Given the description of an element on the screen output the (x, y) to click on. 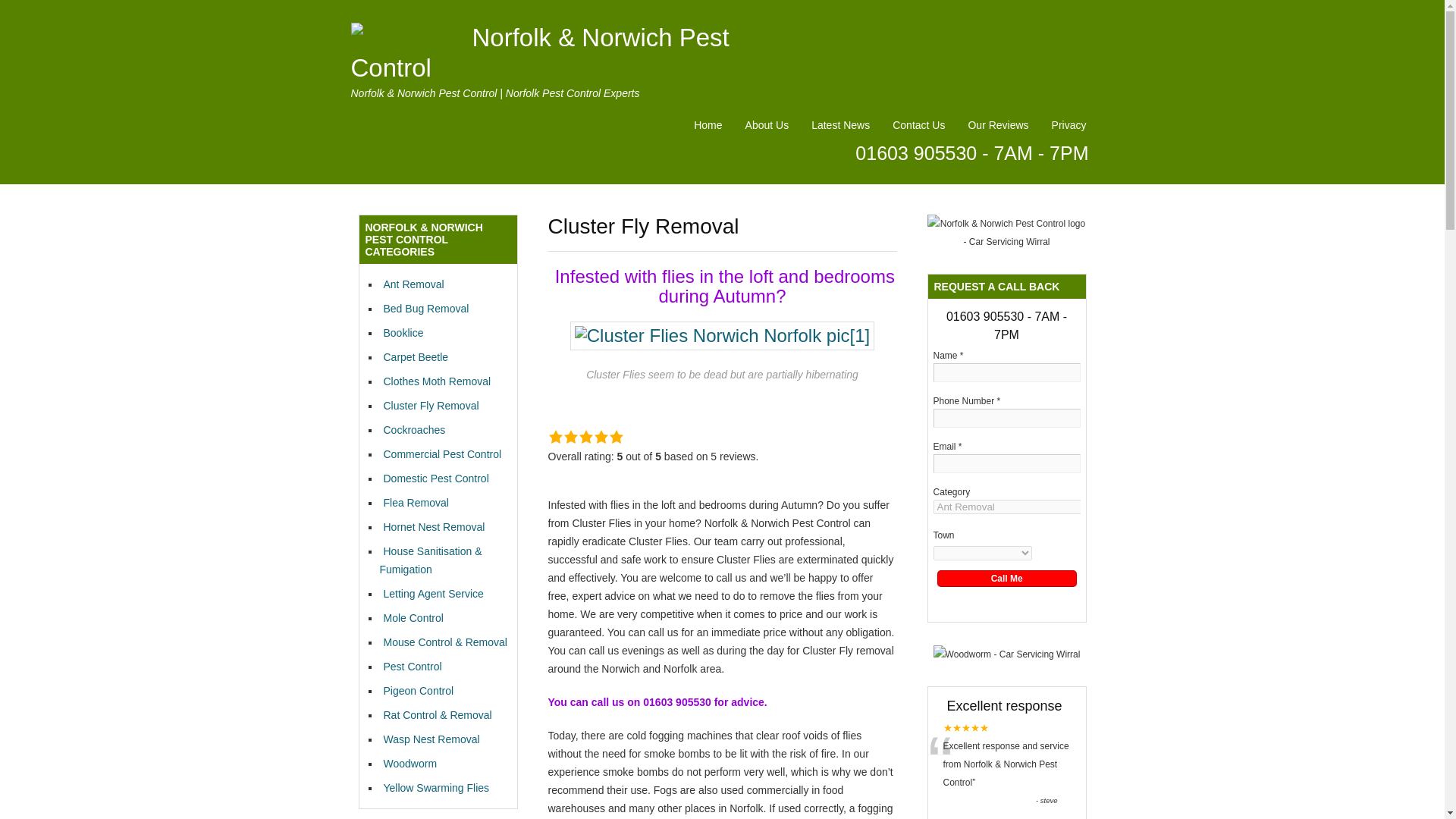
Pest Control (409, 666)
Ant Removal (411, 284)
Booklice (400, 332)
Woodworm (407, 763)
Cockroaches (411, 429)
Bed Bug Removal (423, 308)
Home (707, 124)
Commercial Pest Control (439, 453)
Cluster Fly Removal (428, 405)
Domestic Pest Control (432, 478)
Clothes Moth Removal (434, 381)
Wasp Nest Removal (428, 739)
Privacy (1068, 124)
About Us (767, 124)
Latest News (840, 124)
